Given the description of an element on the screen output the (x, y) to click on. 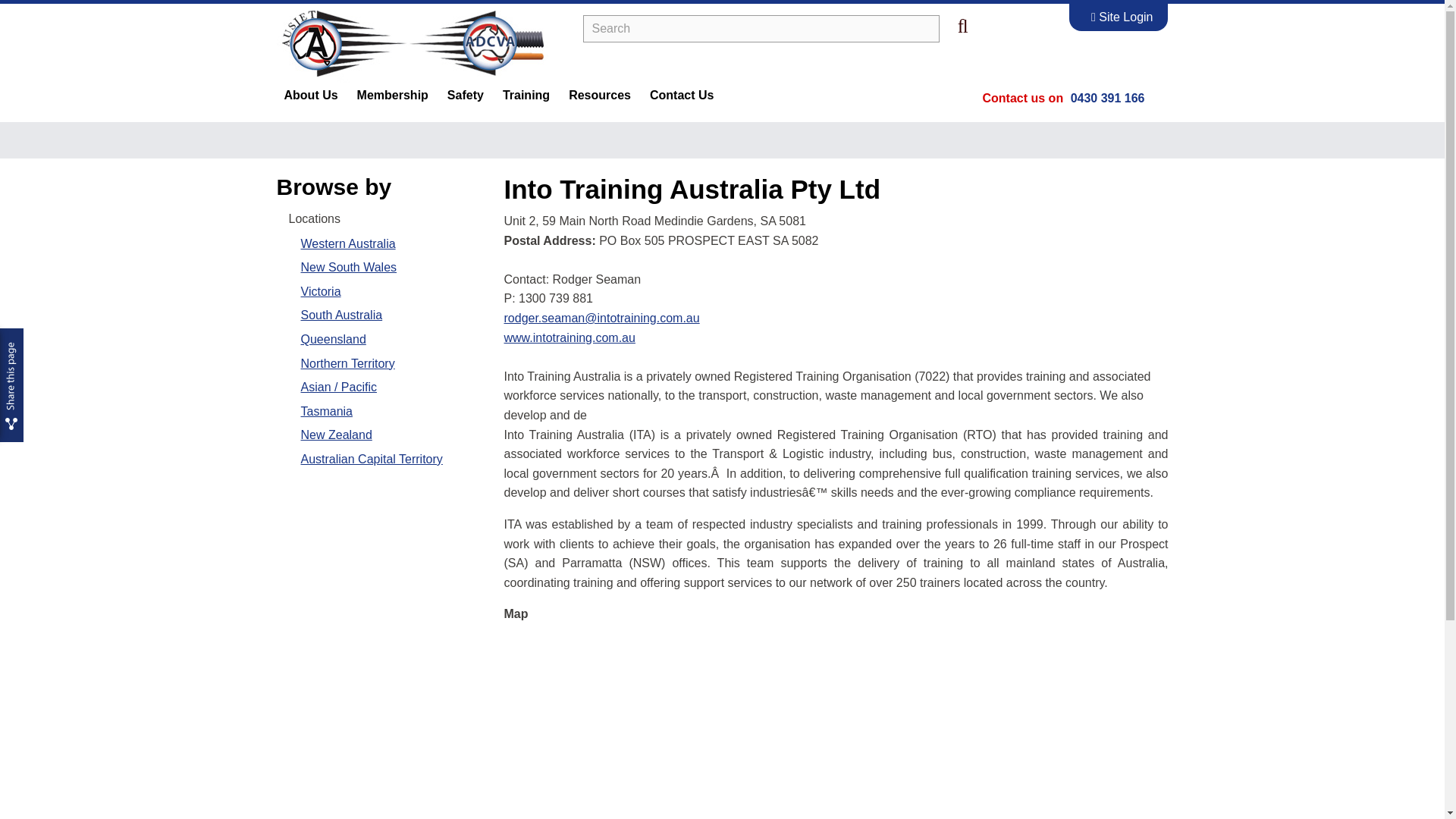
Membership (394, 95)
Resources (601, 95)
0430 391 166 (1107, 98)
Safety (467, 95)
About Us (312, 95)
Contact Us (683, 95)
Training (527, 95)
Search (761, 28)
Search (761, 28)
Site Login (1121, 16)
